Given the description of an element on the screen output the (x, y) to click on. 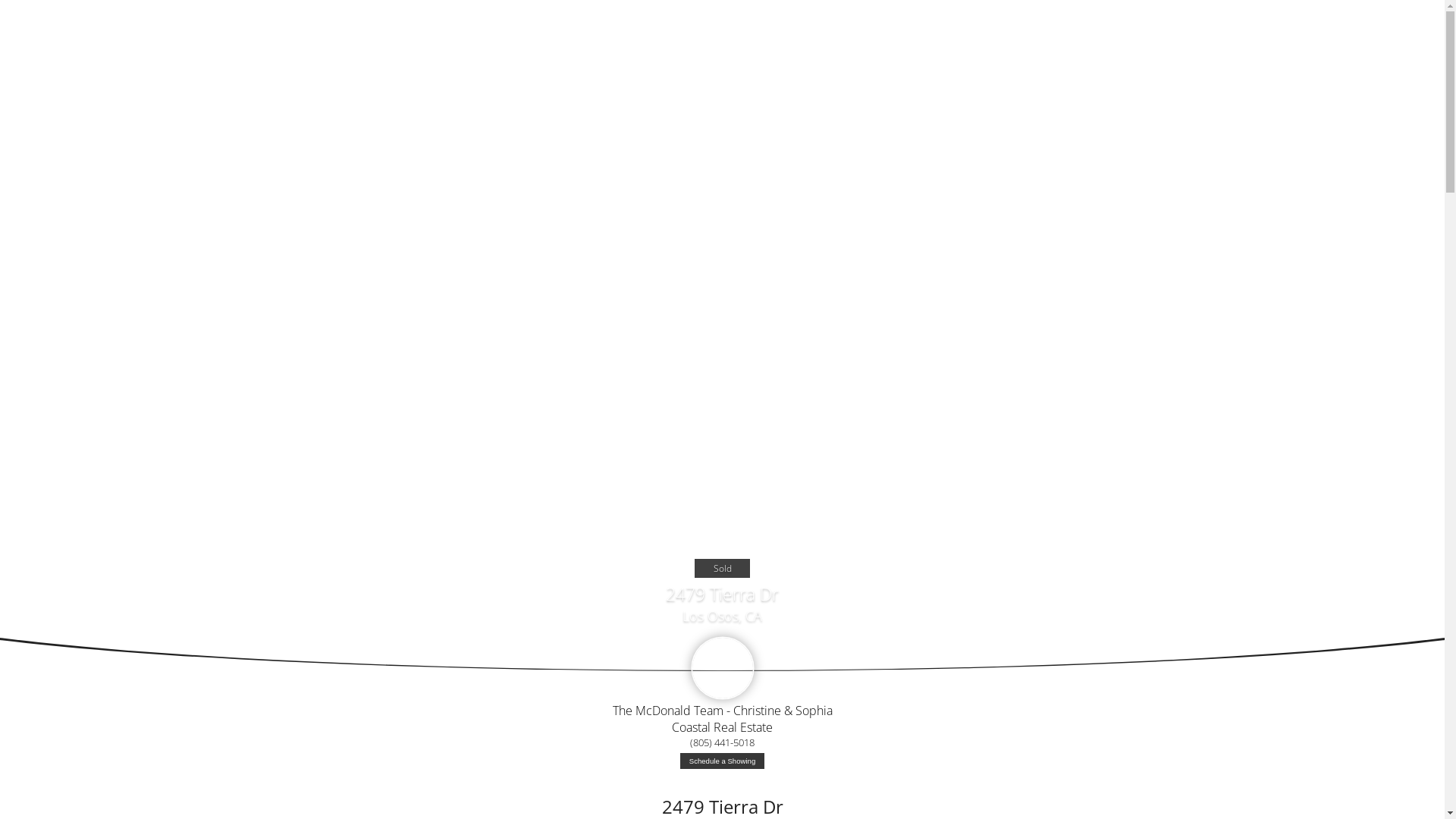
Schedule a Showing Element type: text (722, 760)
